Given the description of an element on the screen output the (x, y) to click on. 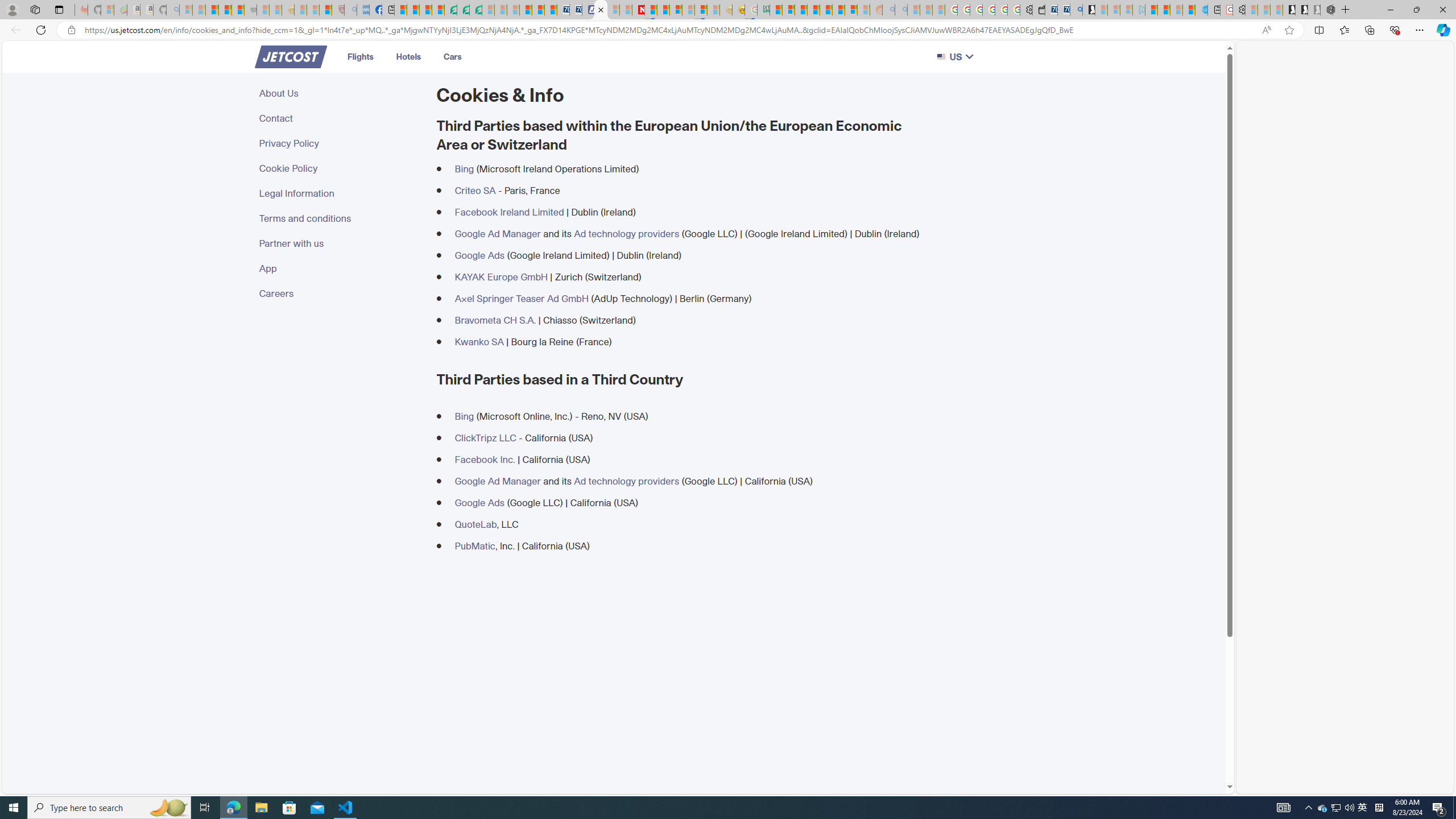
Class: w-full h-auto rounded-sm border border-gray-200 (941, 56)
Partner with us (341, 242)
KAYAK Europe GmbH (500, 276)
Kwanko SA (478, 341)
